Given the description of an element on the screen output the (x, y) to click on. 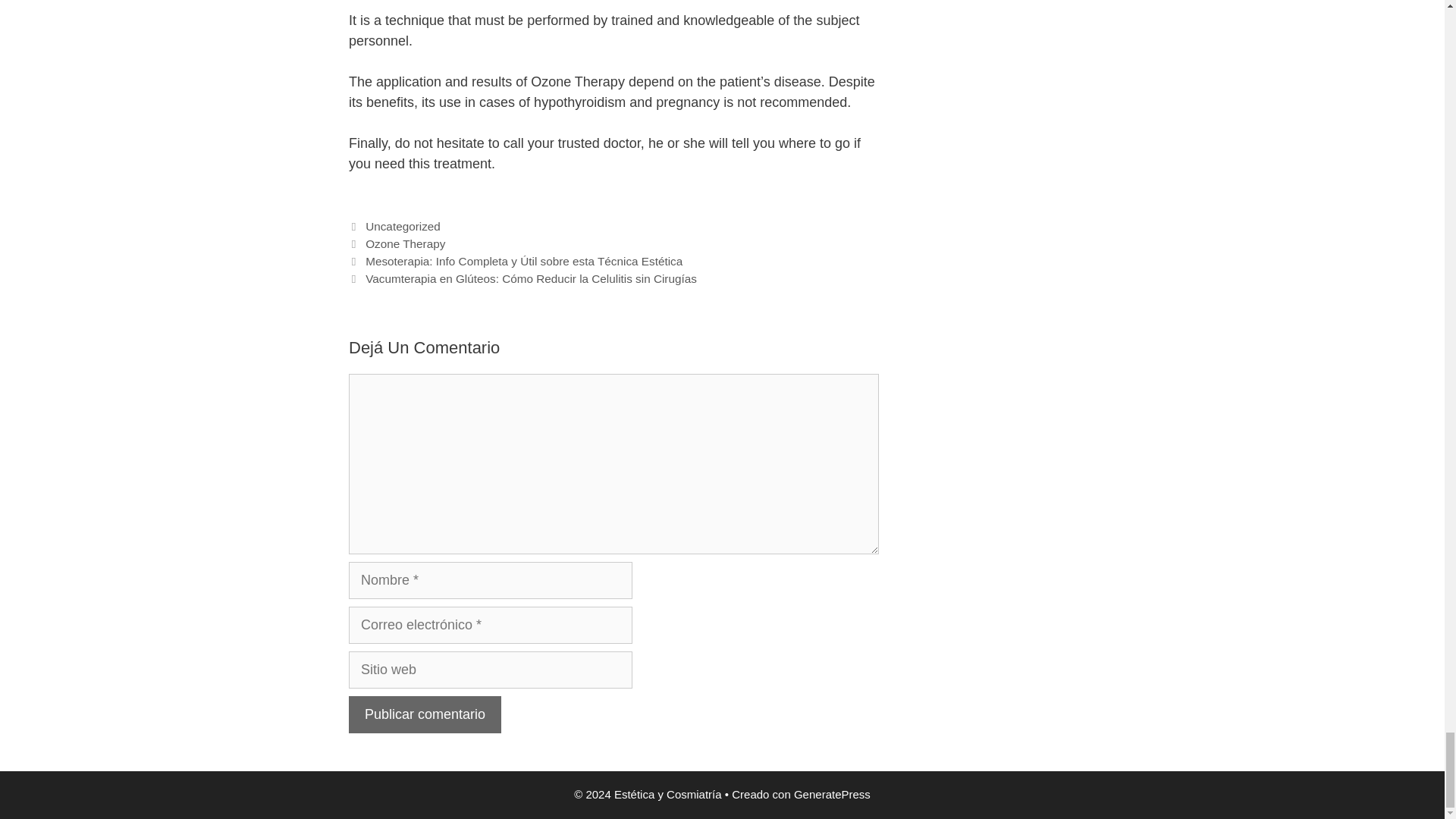
Publicar comentario (424, 714)
GeneratePress (831, 793)
Ozone Therapy (405, 243)
Publicar comentario (424, 714)
Anterior (515, 260)
Uncategorized (403, 226)
Siguiente (523, 278)
